Given the description of an element on the screen output the (x, y) to click on. 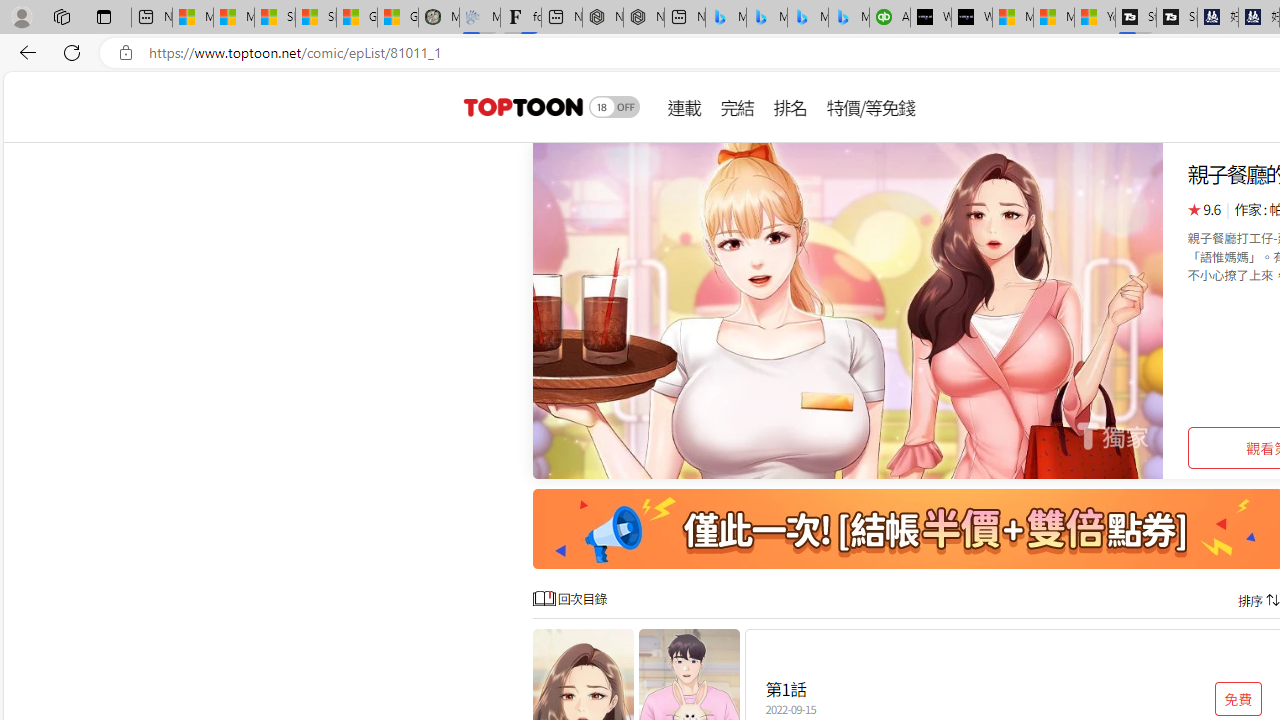
Microsoft Start Sports (1012, 17)
Microsoft Bing Travel - Stays in Bangkok, Bangkok, Thailand (767, 17)
Gilma and Hector both pose tropical trouble for Hawaii (397, 17)
Accounting Software for Accountants, CPAs and Bookkeepers (890, 17)
Streaming Coverage | T3 (1135, 17)
What's the best AI voice generator? - voice.ai (971, 17)
